Given the description of an element on the screen output the (x, y) to click on. 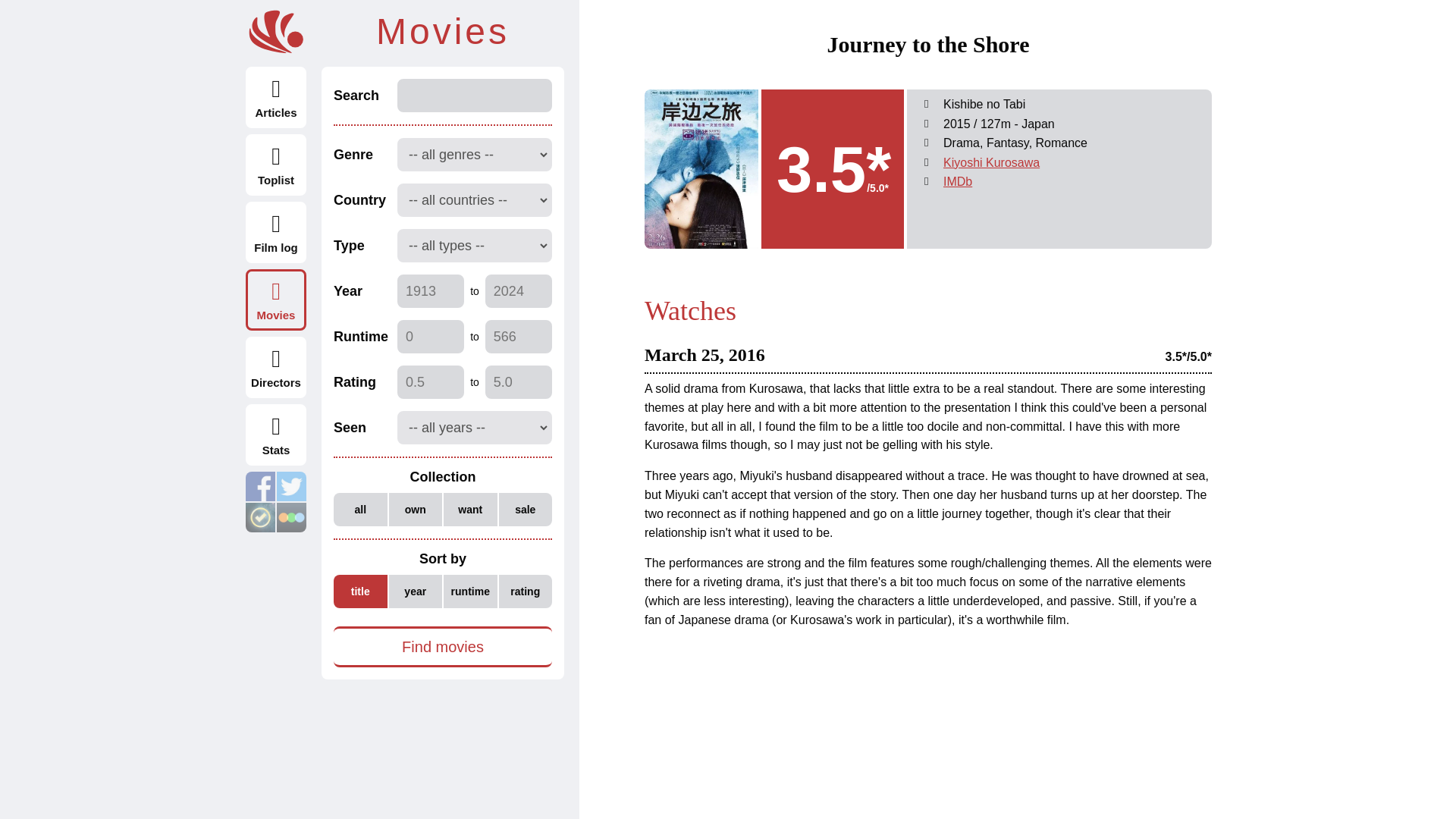
IMDb (957, 181)
Directors (275, 367)
Find movies (442, 646)
Toplist (275, 164)
Movies (275, 299)
onderhond.com (275, 31)
Kiyoshi Kurosawa (991, 162)
Articles (275, 96)
Film log (275, 231)
Stats (275, 435)
